Given the description of an element on the screen output the (x, y) to click on. 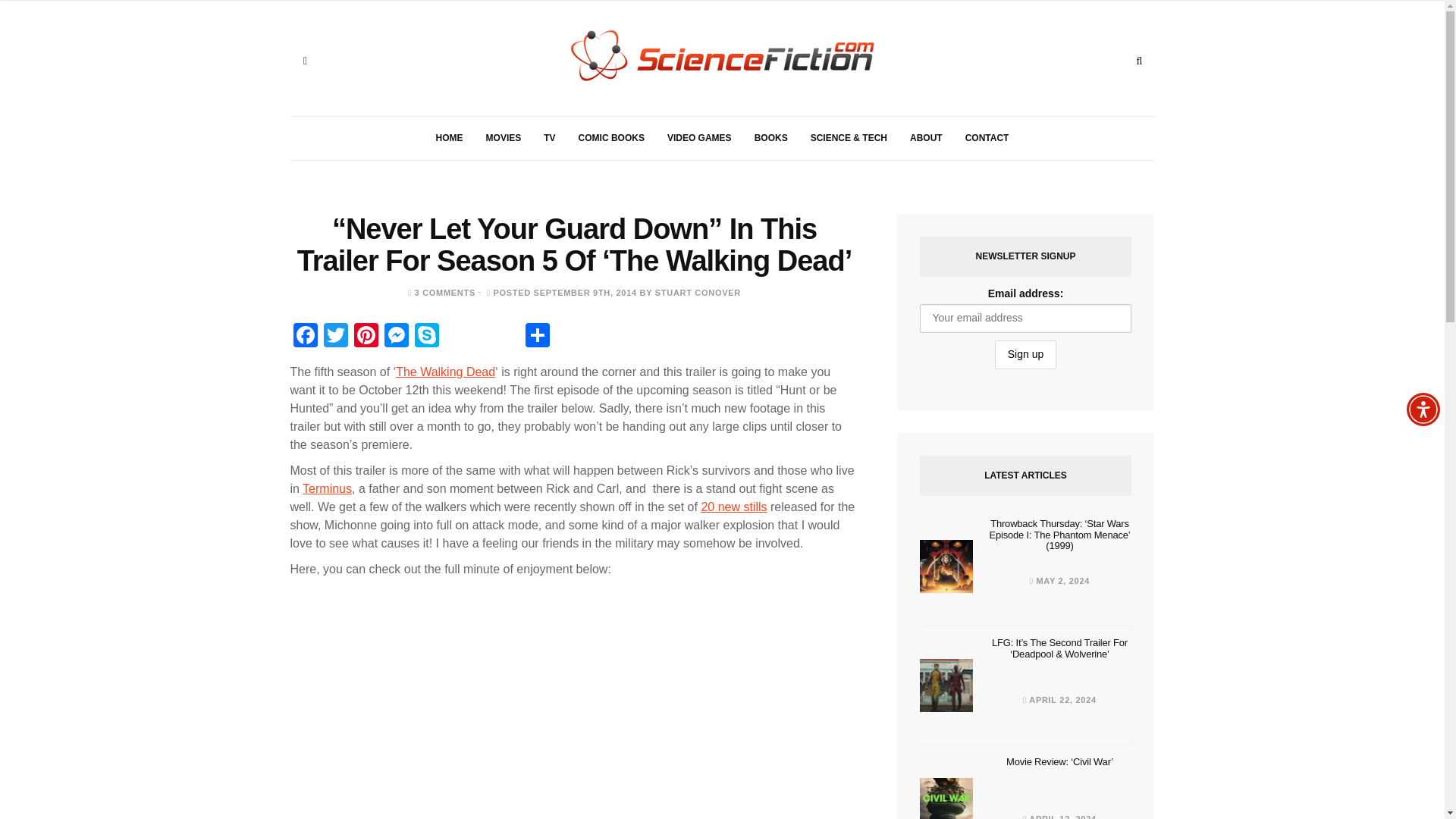
VIDEO GAMES (699, 138)
CONTACT (986, 138)
Search (1139, 60)
HOME (449, 138)
Facebook (304, 336)
BOOKS (770, 138)
Accessibility Menu (1422, 409)
Twitter (335, 336)
Posts by Stuart Conover (698, 292)
Sign up (1025, 354)
